Given the description of an element on the screen output the (x, y) to click on. 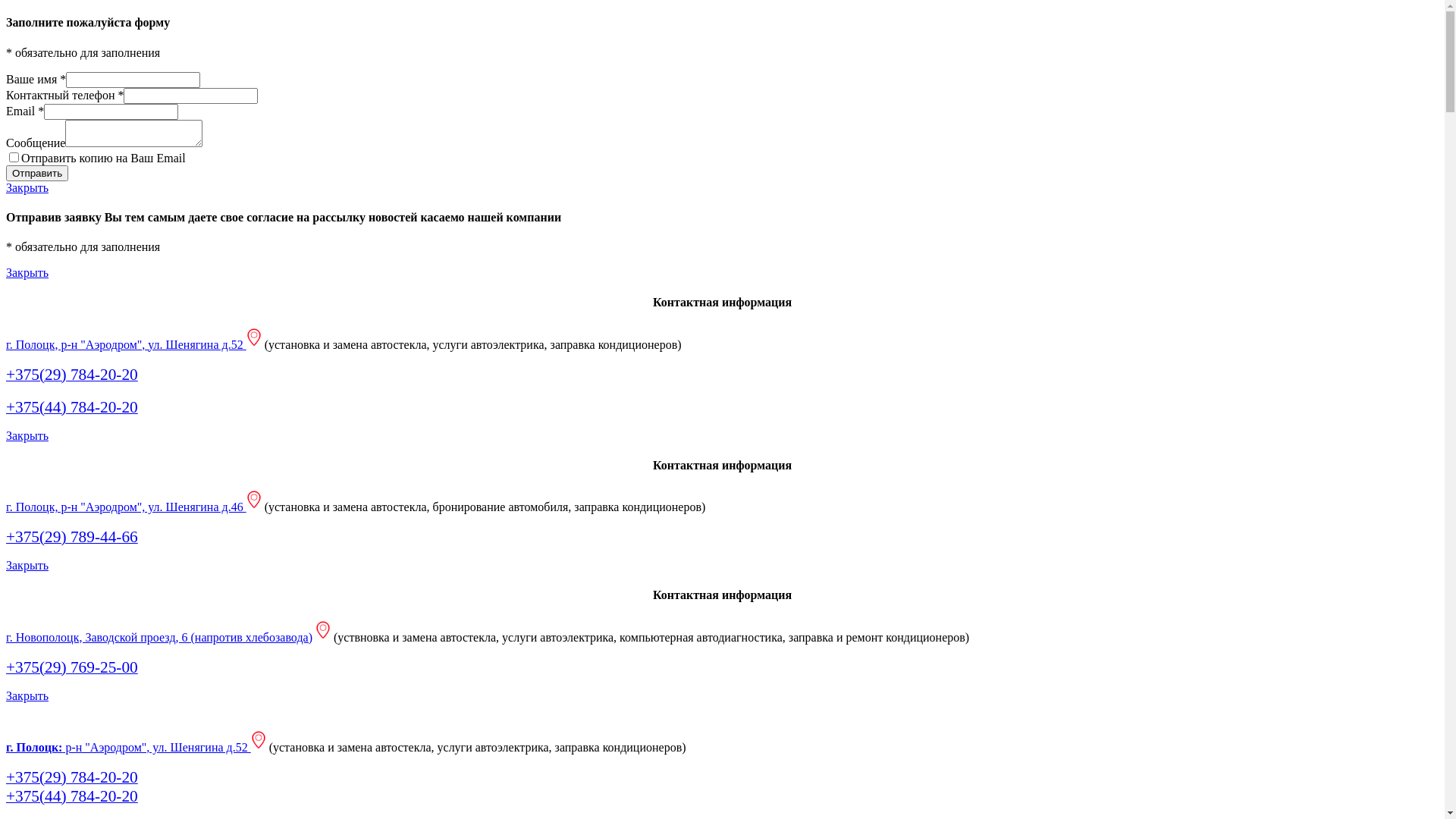
+375(29) 769-25-00 Element type: text (72, 668)
+375(29) 789-44-66 Element type: text (72, 537)
+375(44) 784-20-20 Element type: text (72, 407)
+375(44) 784-20-20 Element type: text (72, 796)
+375(29) 784-20-20 Element type: text (72, 375)
+375(29) 784-20-20 Element type: text (72, 777)
